Given the description of an element on the screen output the (x, y) to click on. 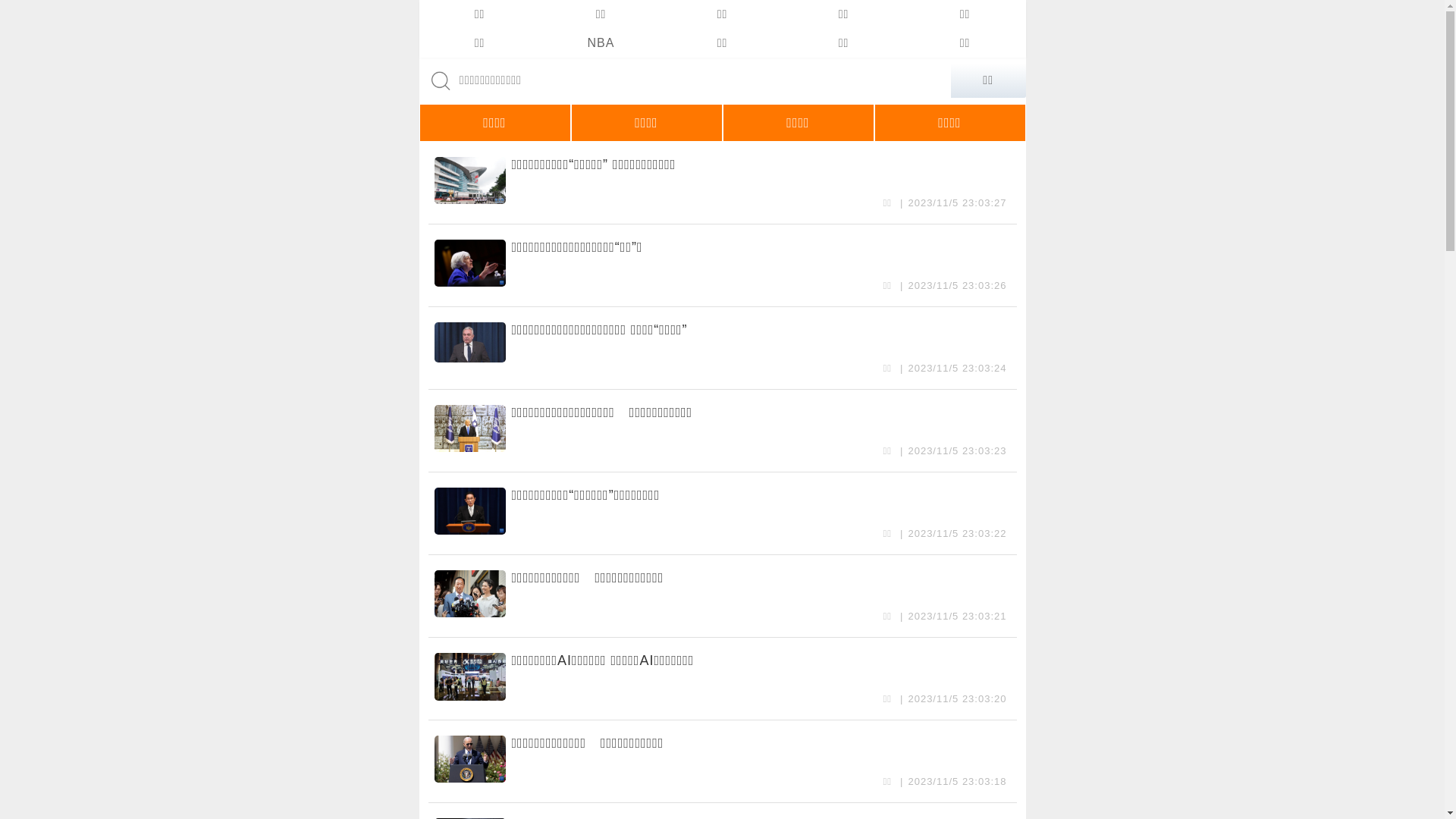
NBA Element type: text (600, 42)
